Given the description of an element on the screen output the (x, y) to click on. 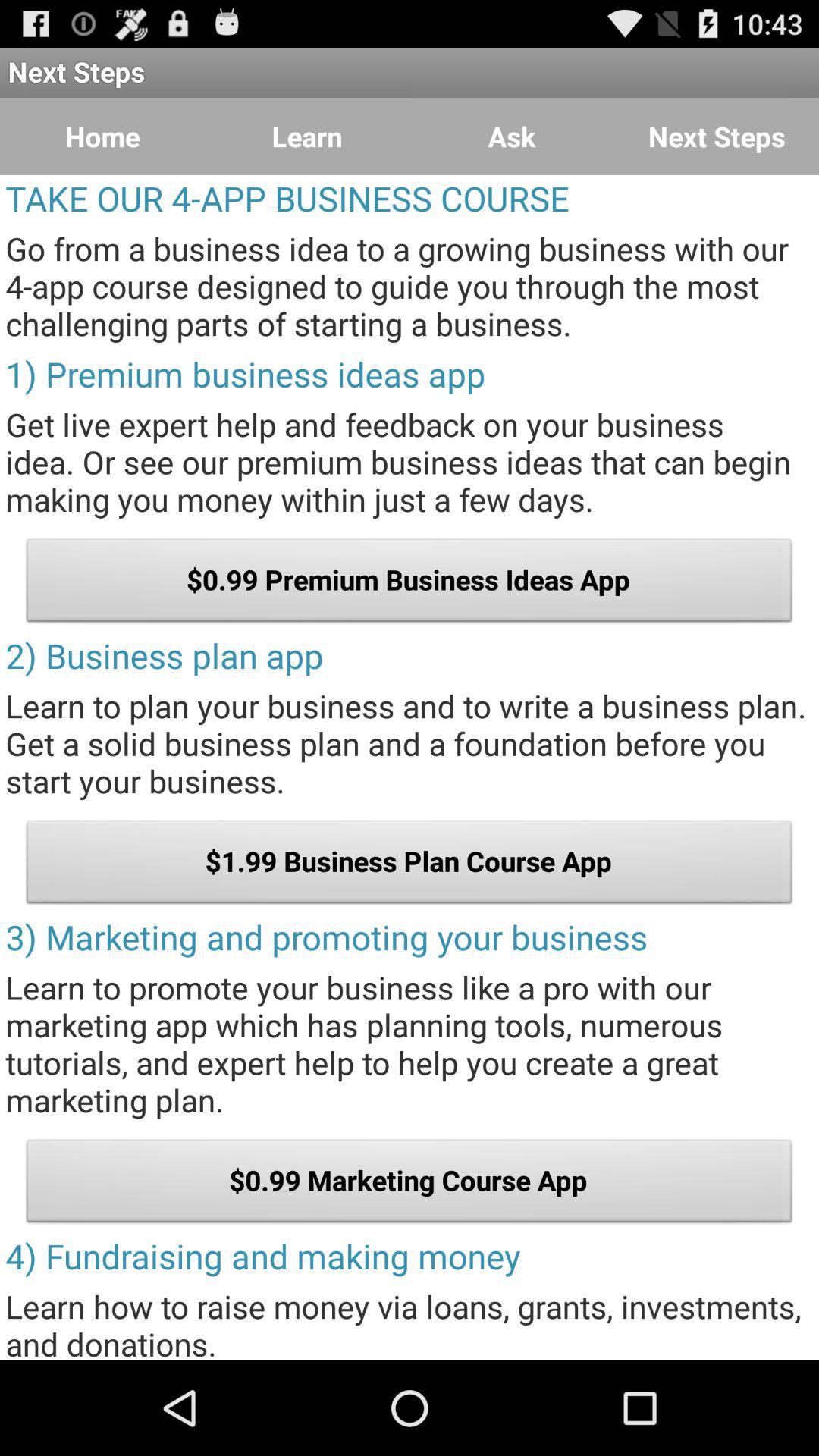
launch the icon to the left of the learn button (102, 136)
